Given the description of an element on the screen output the (x, y) to click on. 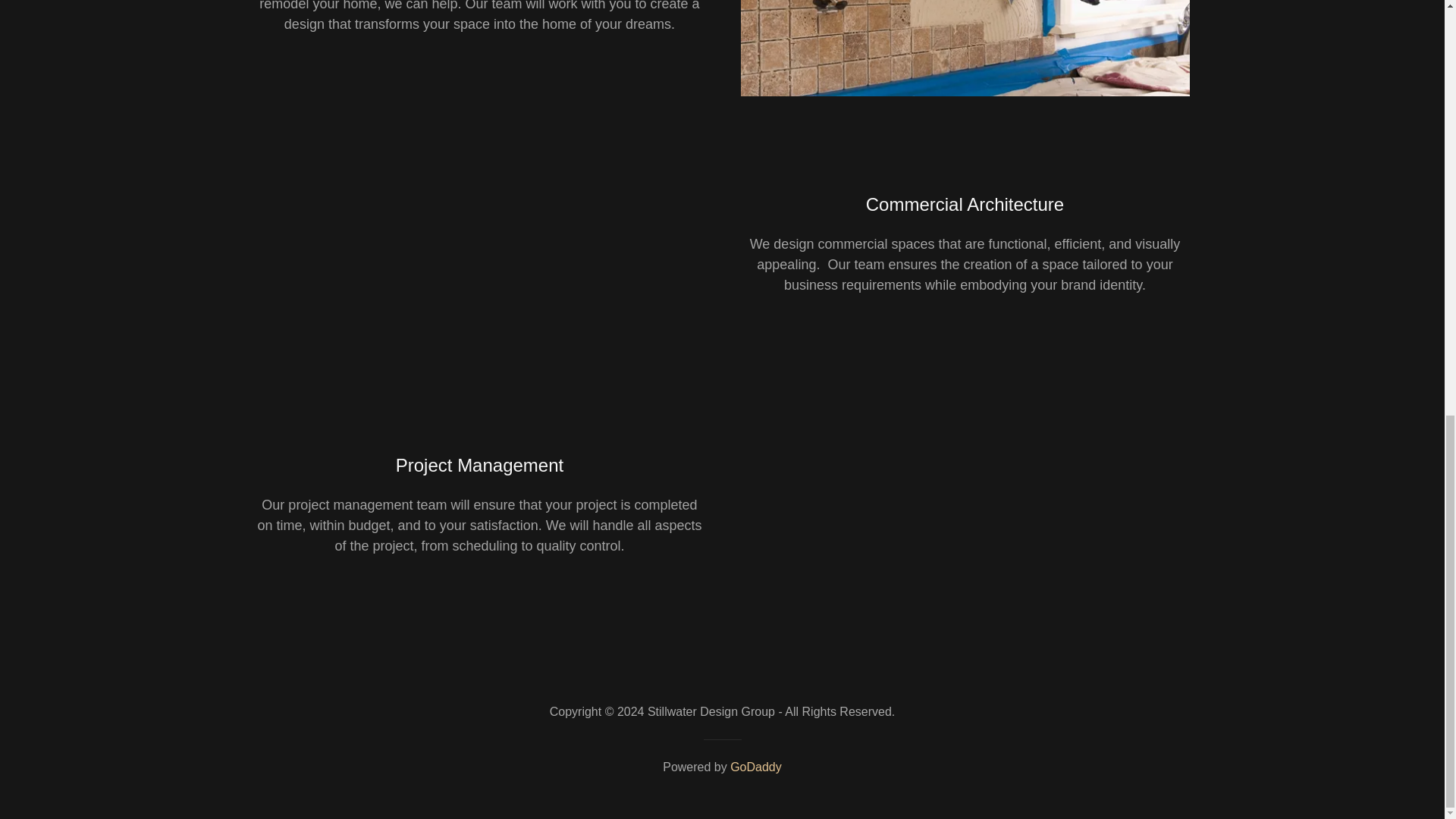
GoDaddy (755, 766)
